Given the description of an element on the screen output the (x, y) to click on. 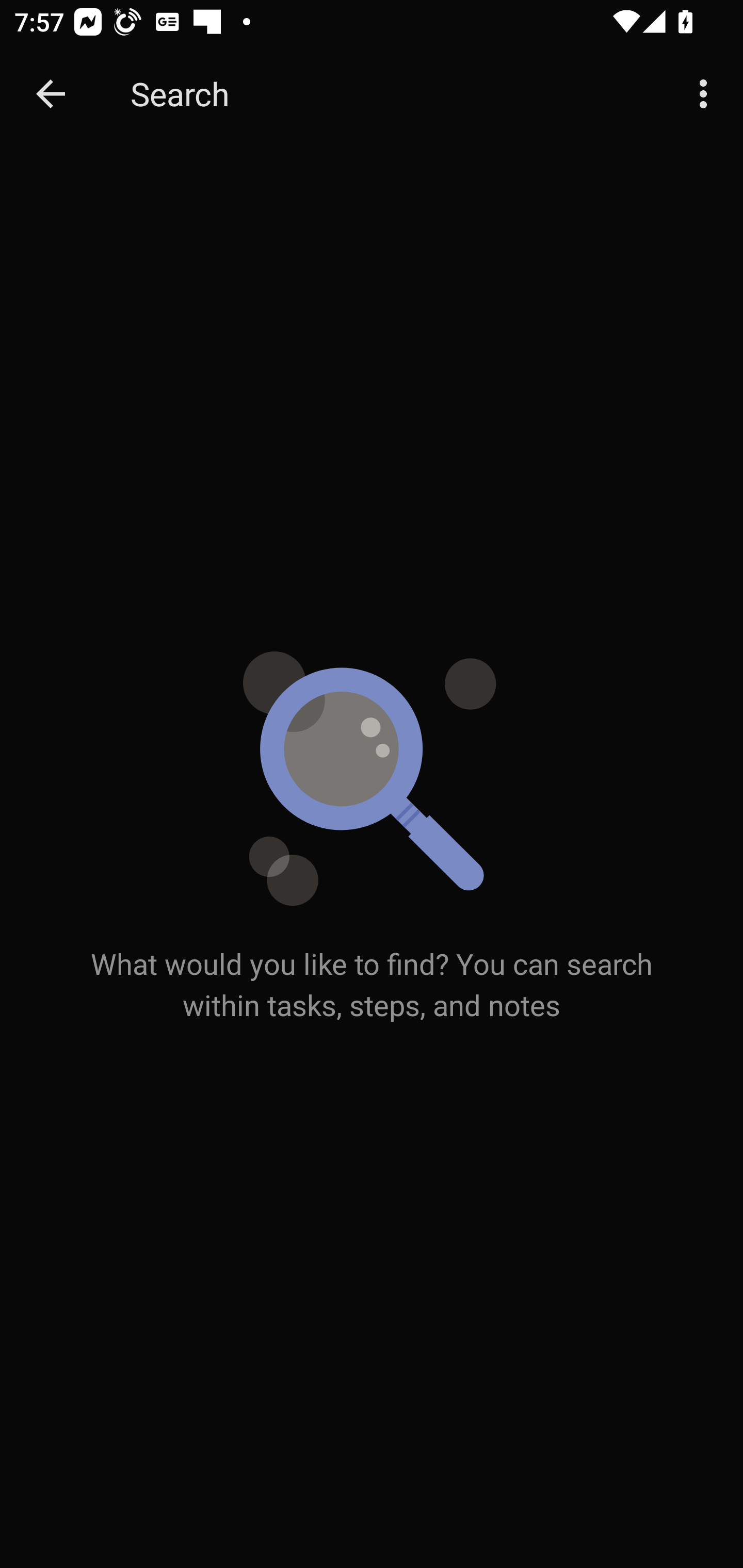
Navigate up (50, 93)
More options (706, 93)
Search (393, 94)
